Given the description of an element on the screen output the (x, y) to click on. 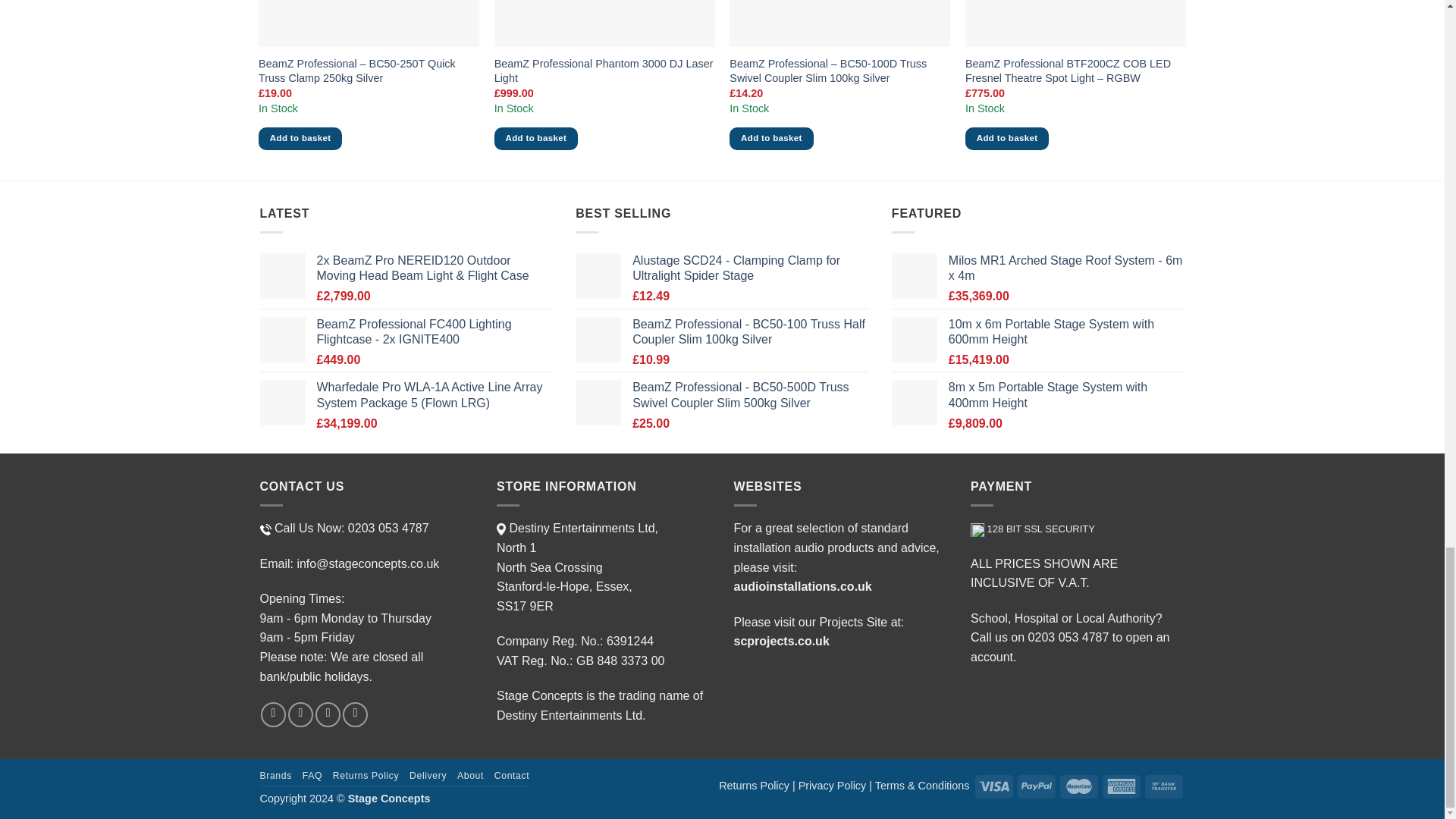
Send us an email (300, 714)
Follow on LinkedIn (355, 714)
Call us (327, 714)
Follow on Facebook (272, 714)
